Given the description of an element on the screen output the (x, y) to click on. 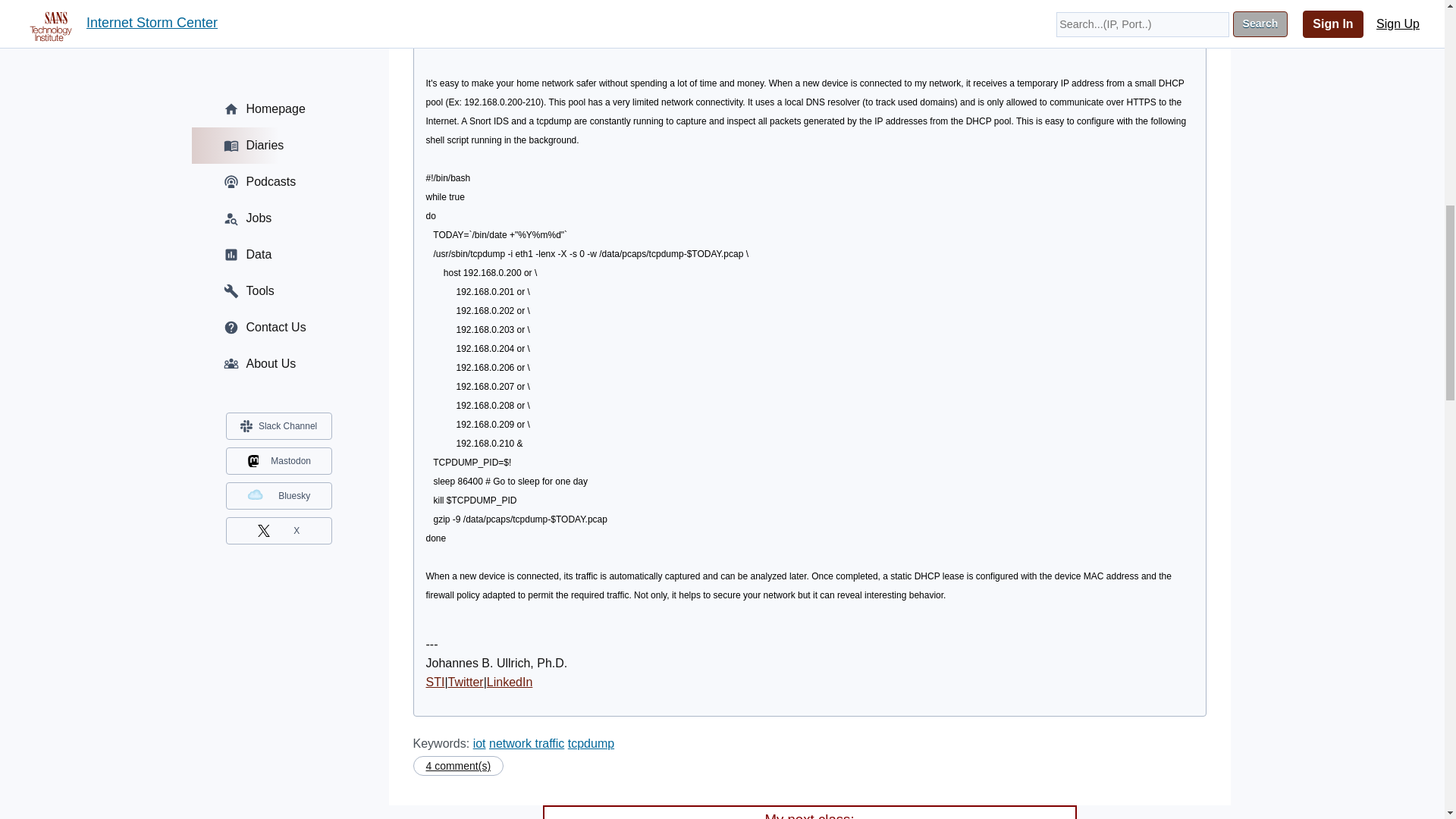
tcpdump (590, 743)
LinkedIn (509, 681)
Twitter (465, 681)
network traffic (526, 743)
iot (479, 743)
STI (435, 681)
